Given the description of an element on the screen output the (x, y) to click on. 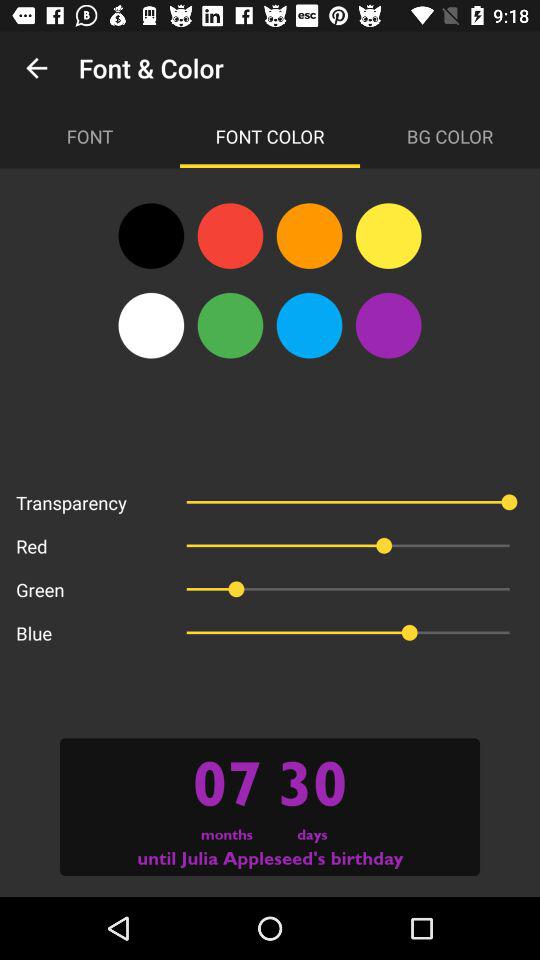
tap the app to the left of the font & color item (36, 68)
